Given the description of an element on the screen output the (x, y) to click on. 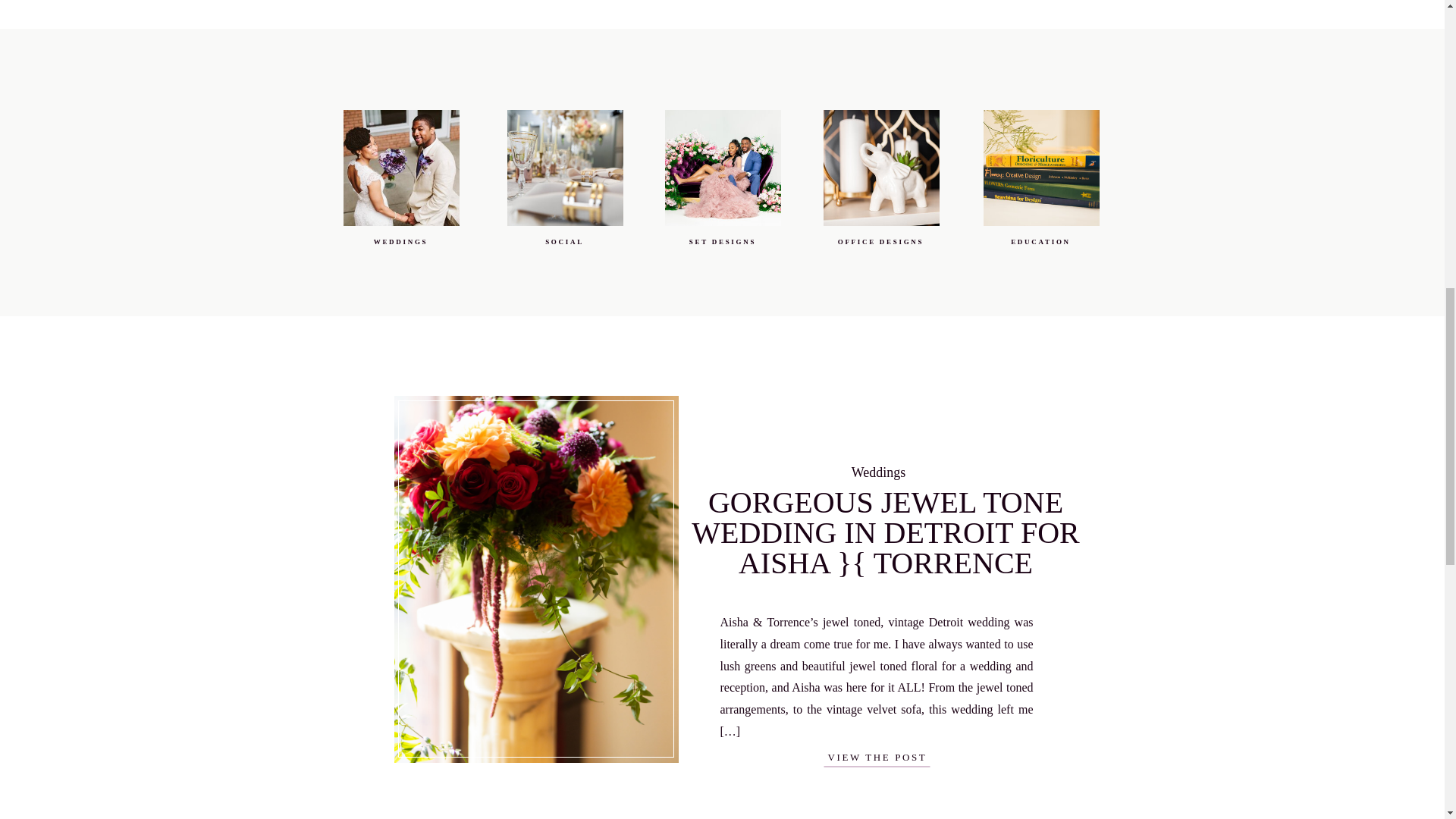
OFFICE DESIGNS (880, 249)
EDUCATION (1040, 249)
VIEW THE POST (876, 757)
SET DESIGNS (722, 243)
Weddings (878, 472)
SOCIAL (563, 245)
WEDDINGS (400, 248)
